Given the description of an element on the screen output the (x, y) to click on. 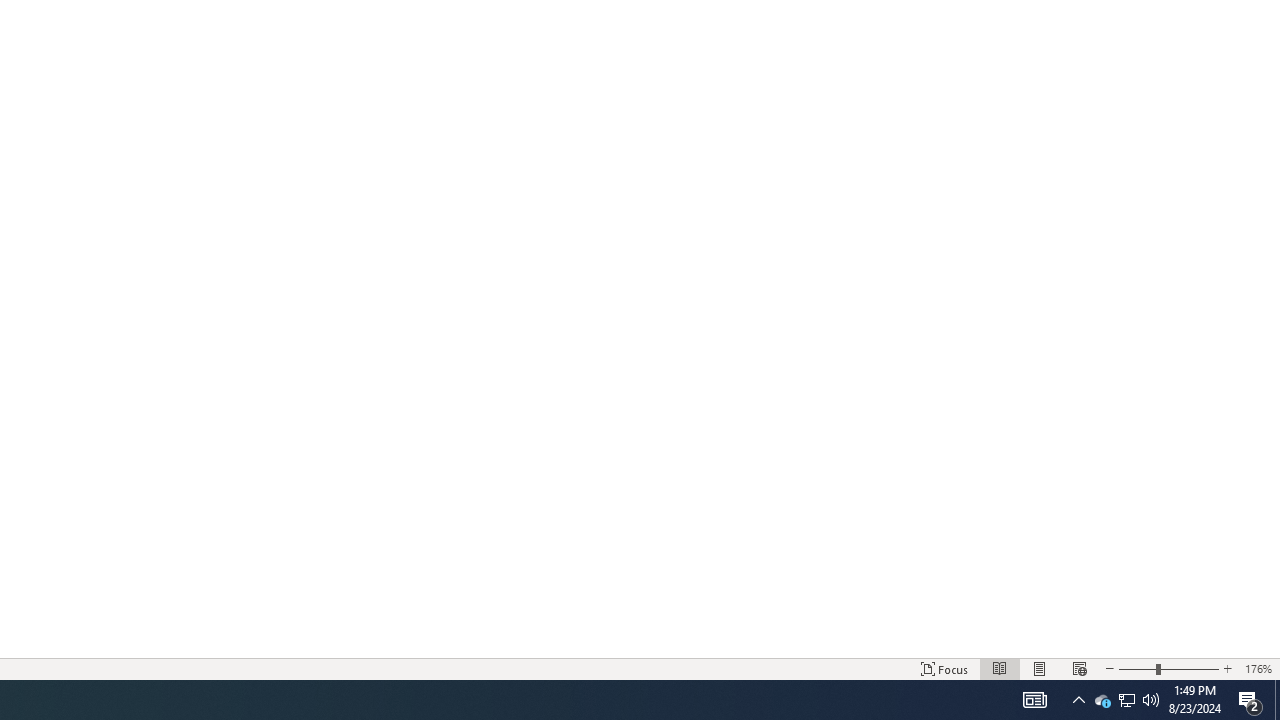
Increase Text Size (1227, 668)
Decrease Text Size (1109, 668)
Text Size (1168, 668)
